Given the description of an element on the screen output the (x, y) to click on. 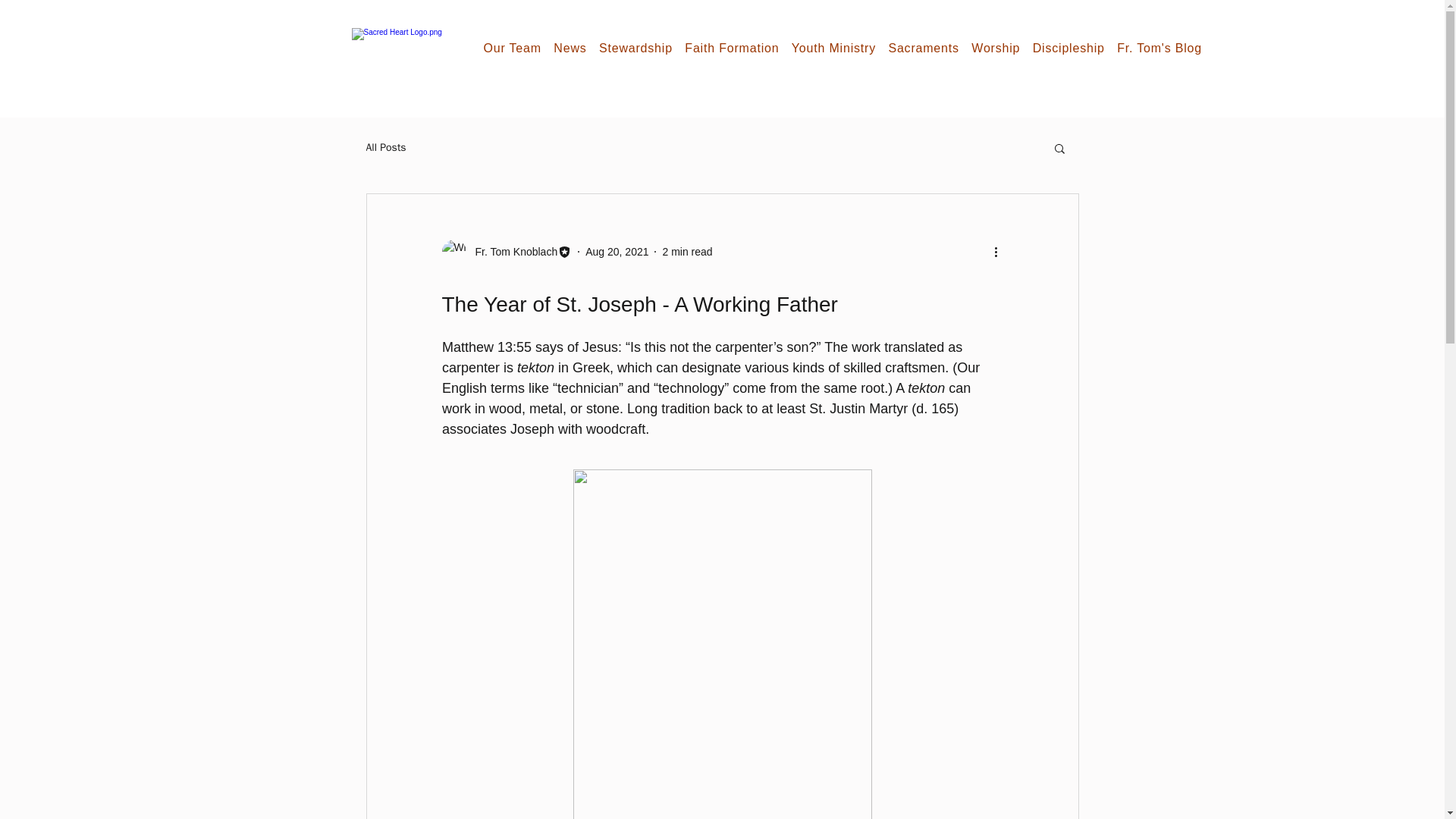
Aug 20, 2021 (616, 251)
Fr. Tom Knoblach (511, 252)
Youth Ministry (837, 47)
Stewardship (638, 47)
All Posts (385, 147)
News (572, 47)
Fr. Tom's Blog (1162, 47)
Faith Formation (735, 47)
Sacraments (926, 47)
Our Team (515, 47)
